Given the description of an element on the screen output the (x, y) to click on. 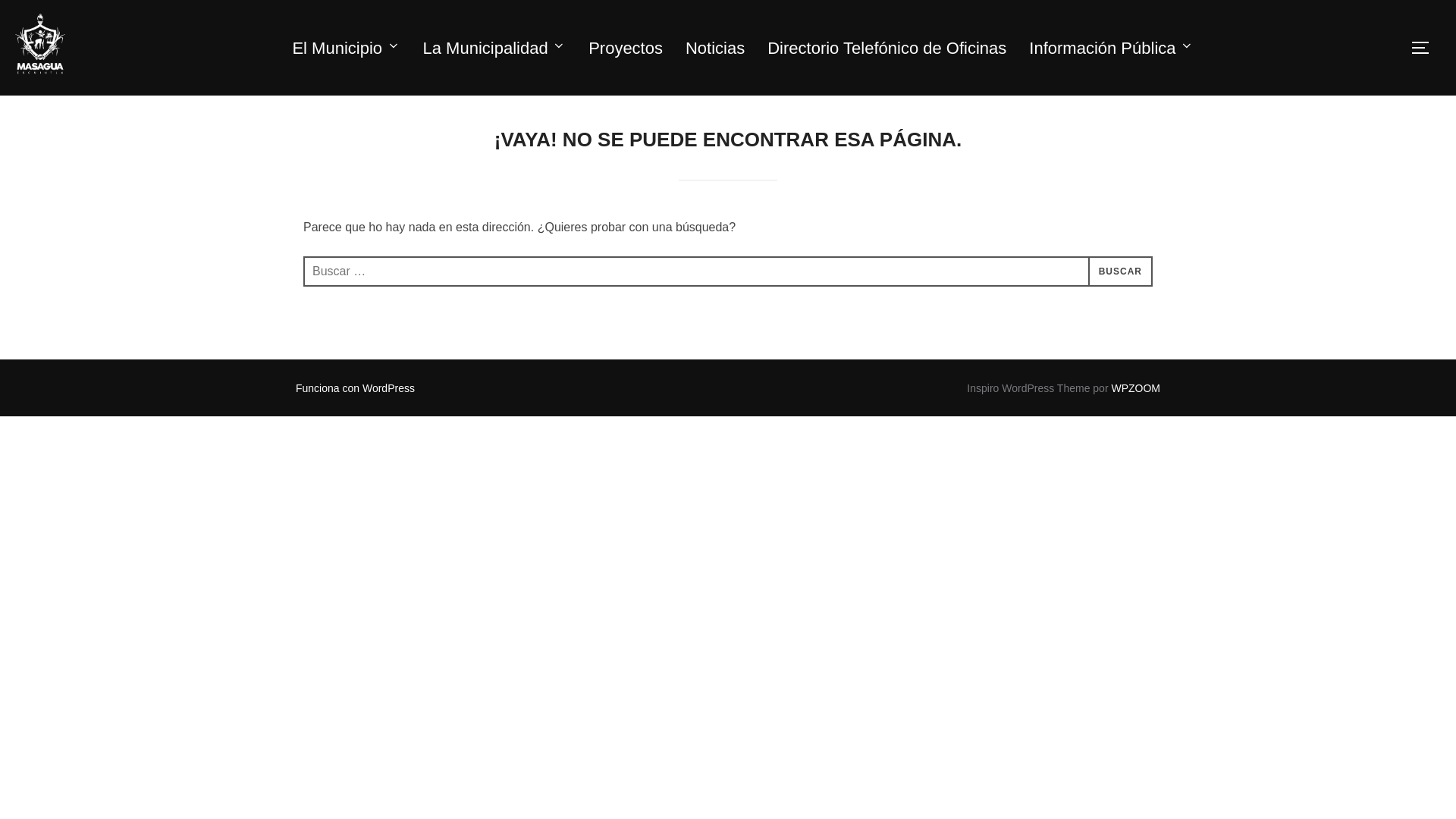
La Municipalidad (494, 47)
El Municipio (345, 47)
